Given the description of an element on the screen output the (x, y) to click on. 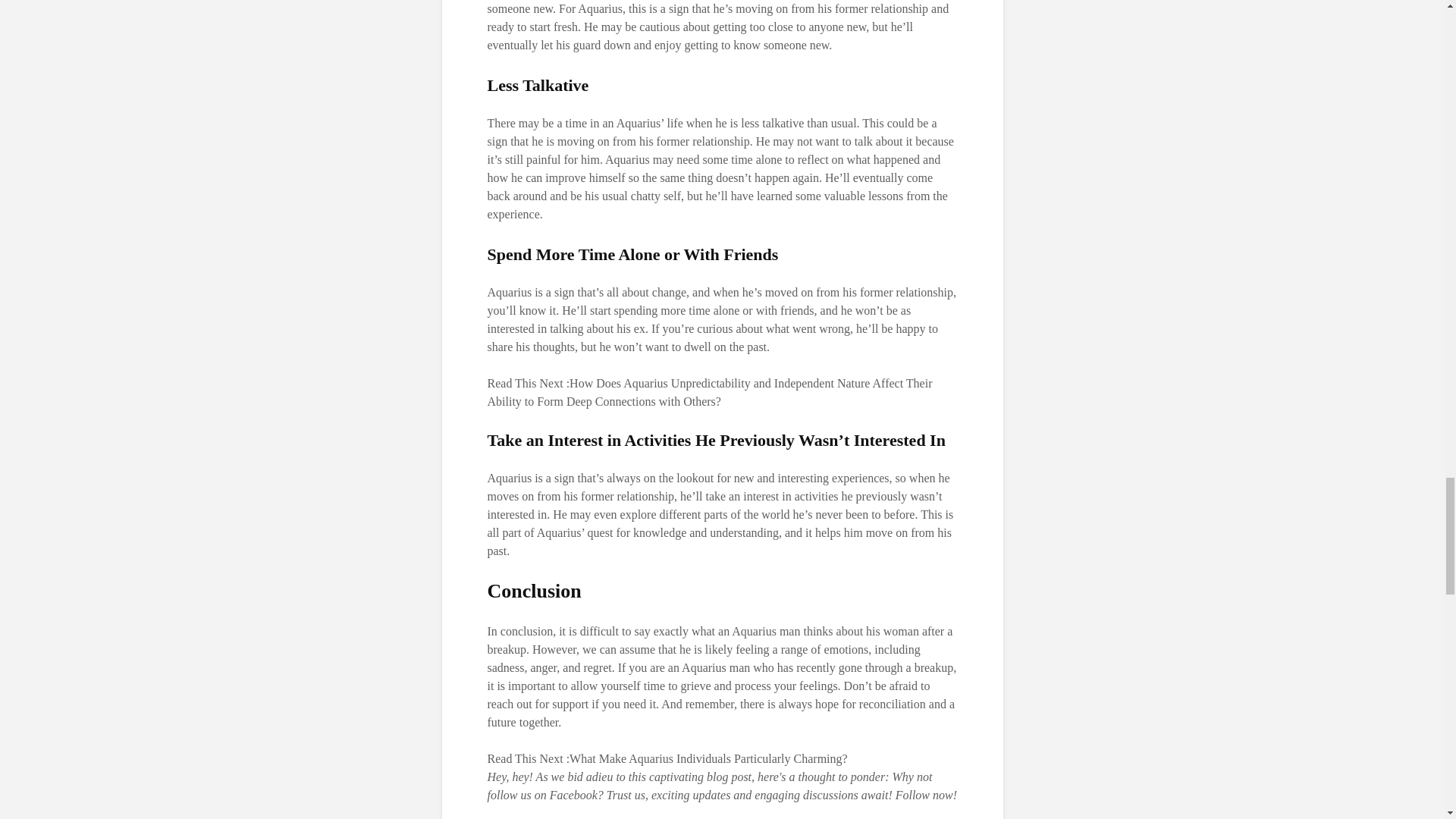
What Make Aquarius Individuals Particularly Charming? (708, 758)
